Given the description of an element on the screen output the (x, y) to click on. 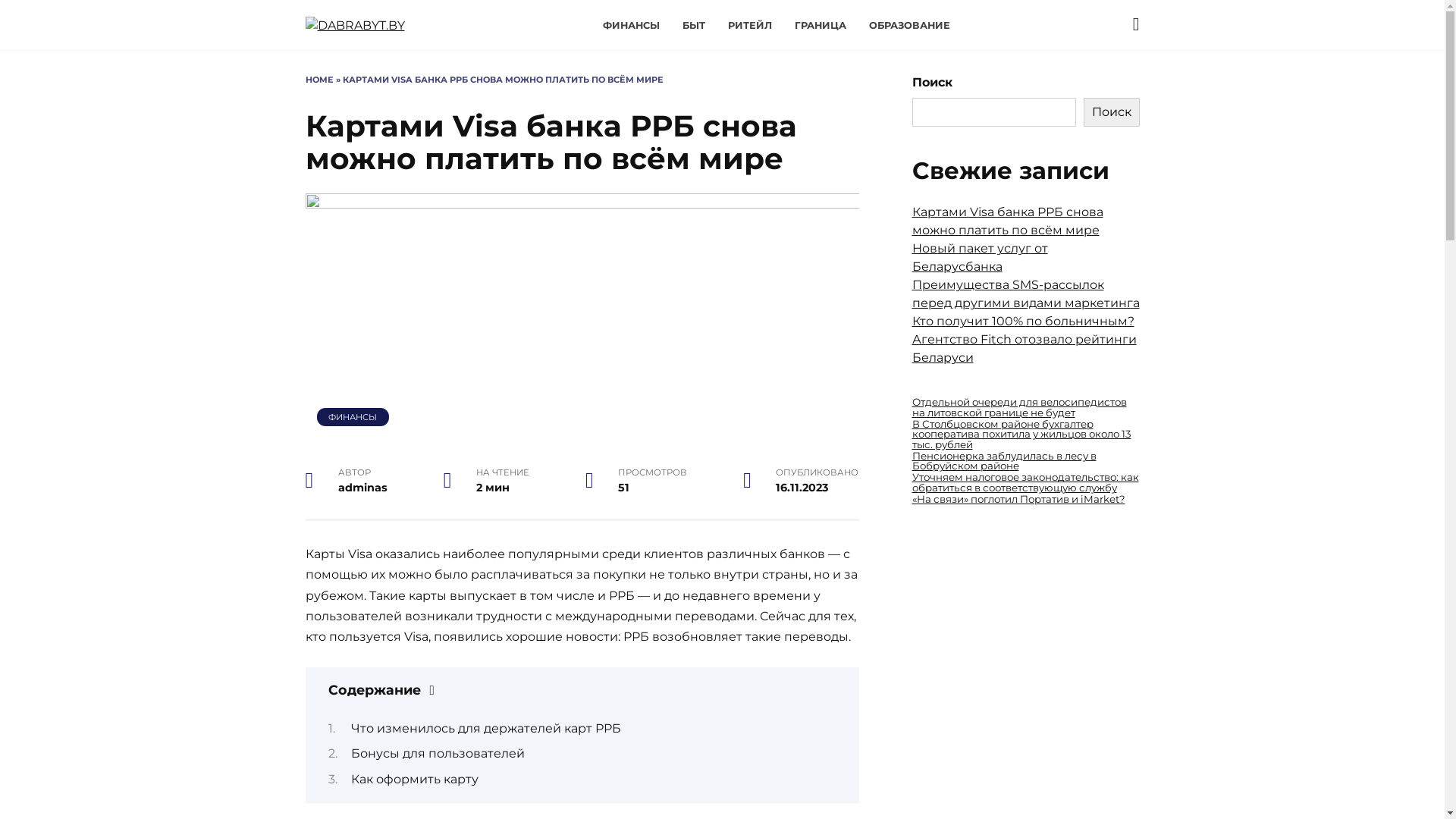
HOME Element type: text (318, 79)
